Given the description of an element on the screen output the (x, y) to click on. 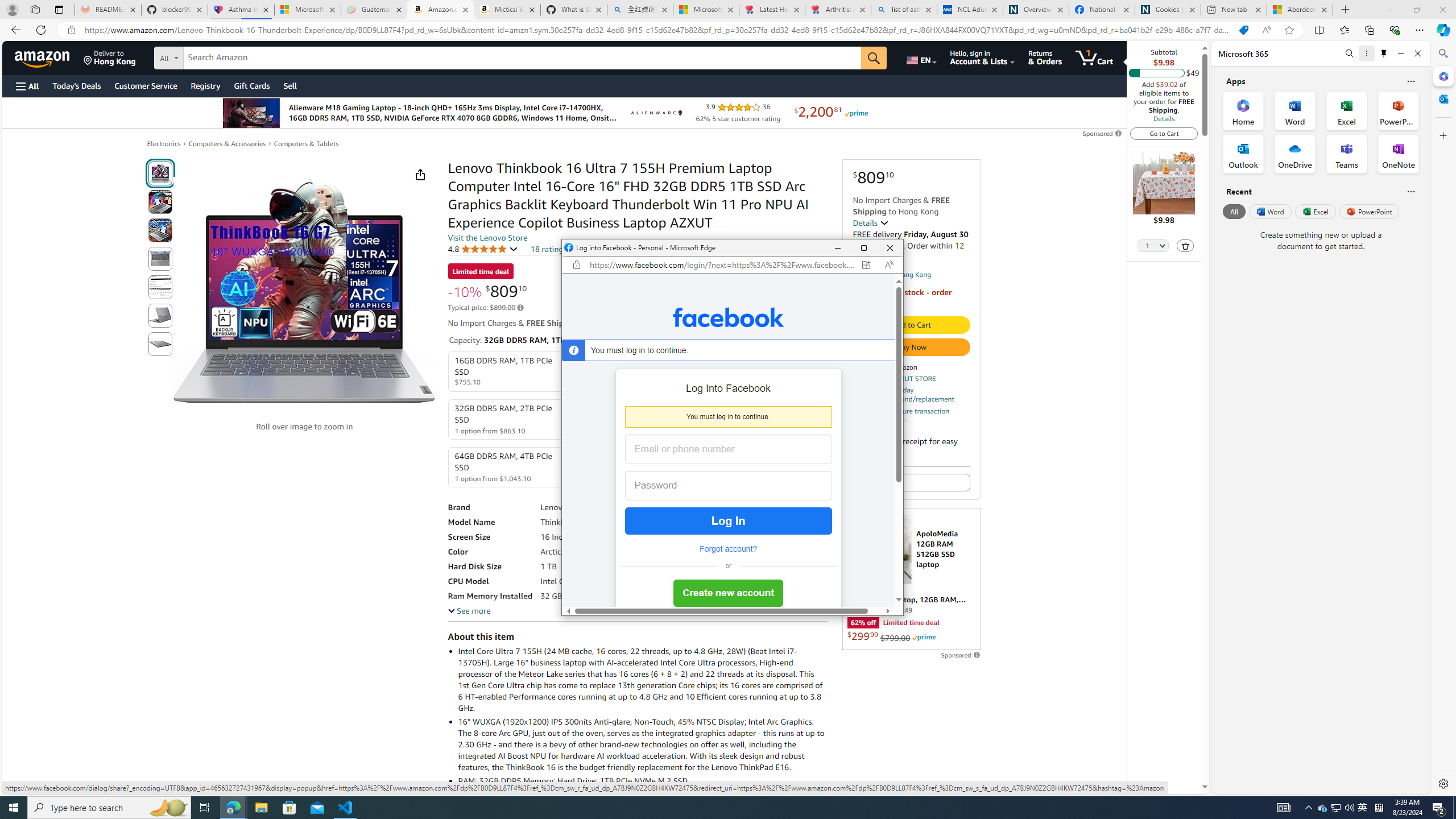
Log In (727, 520)
Email or phone number (727, 449)
Electronics (163, 144)
Word Office App (1295, 110)
Action Center, 2 new notifications (1439, 807)
Registry (205, 85)
Forgot account? (727, 548)
Go (873, 57)
